Given the description of an element on the screen output the (x, y) to click on. 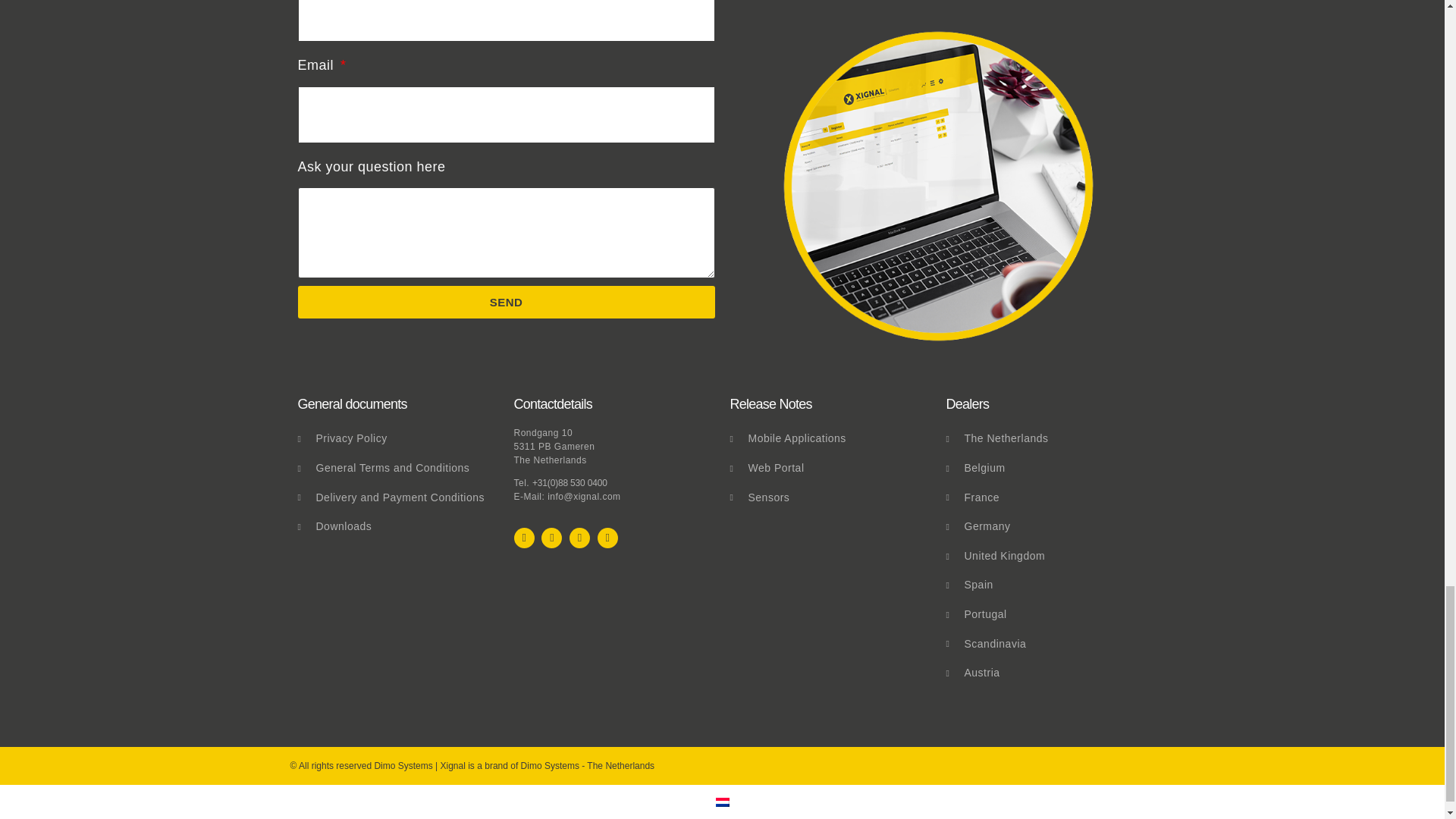
Delivery and Payment Conditions (397, 498)
Downloads (397, 526)
General Terms and Conditions (397, 468)
SEND (505, 301)
Privacy Policy (397, 438)
